Given the description of an element on the screen output the (x, y) to click on. 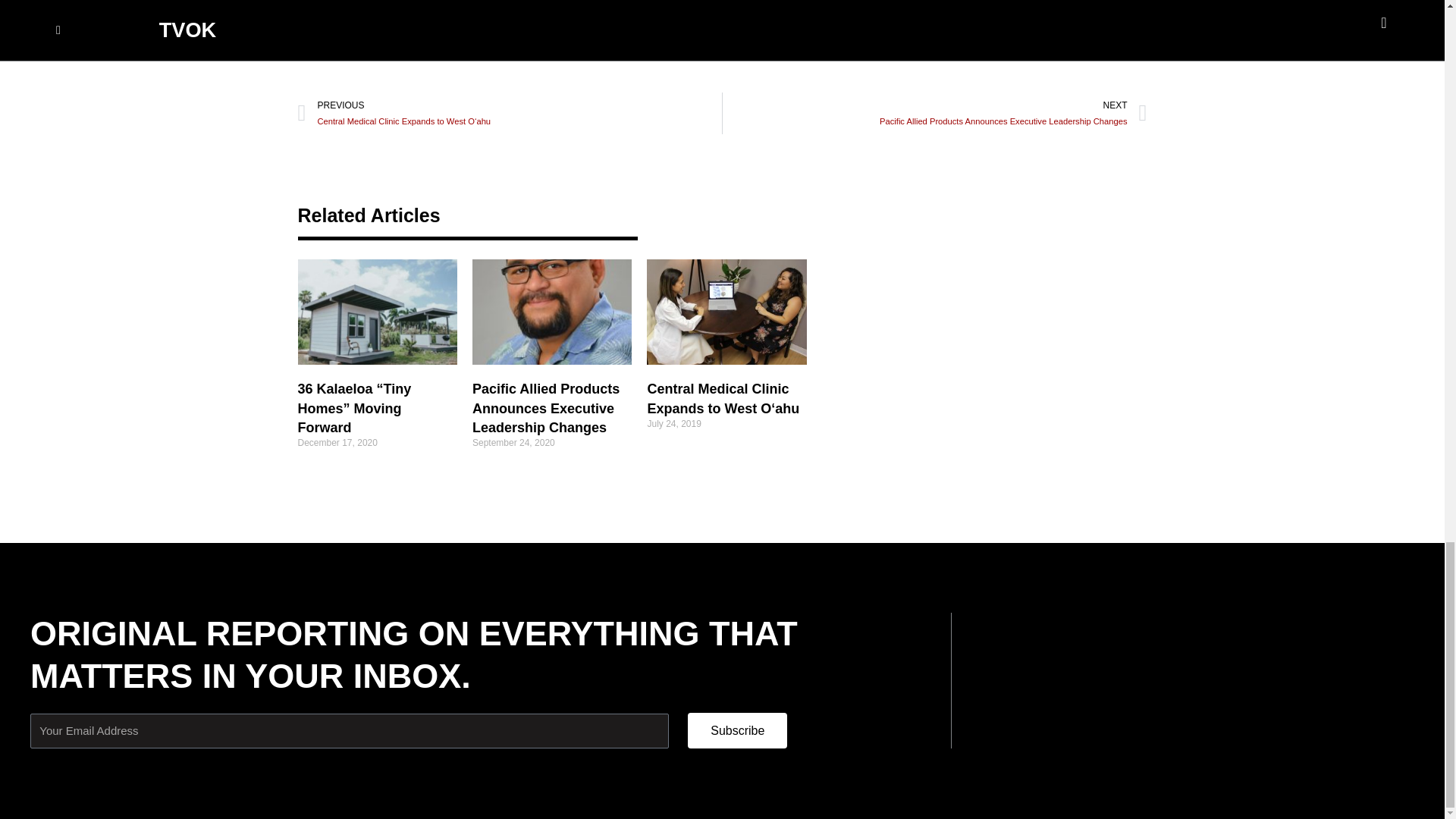
Subscribe (737, 730)
